Given the description of an element on the screen output the (x, y) to click on. 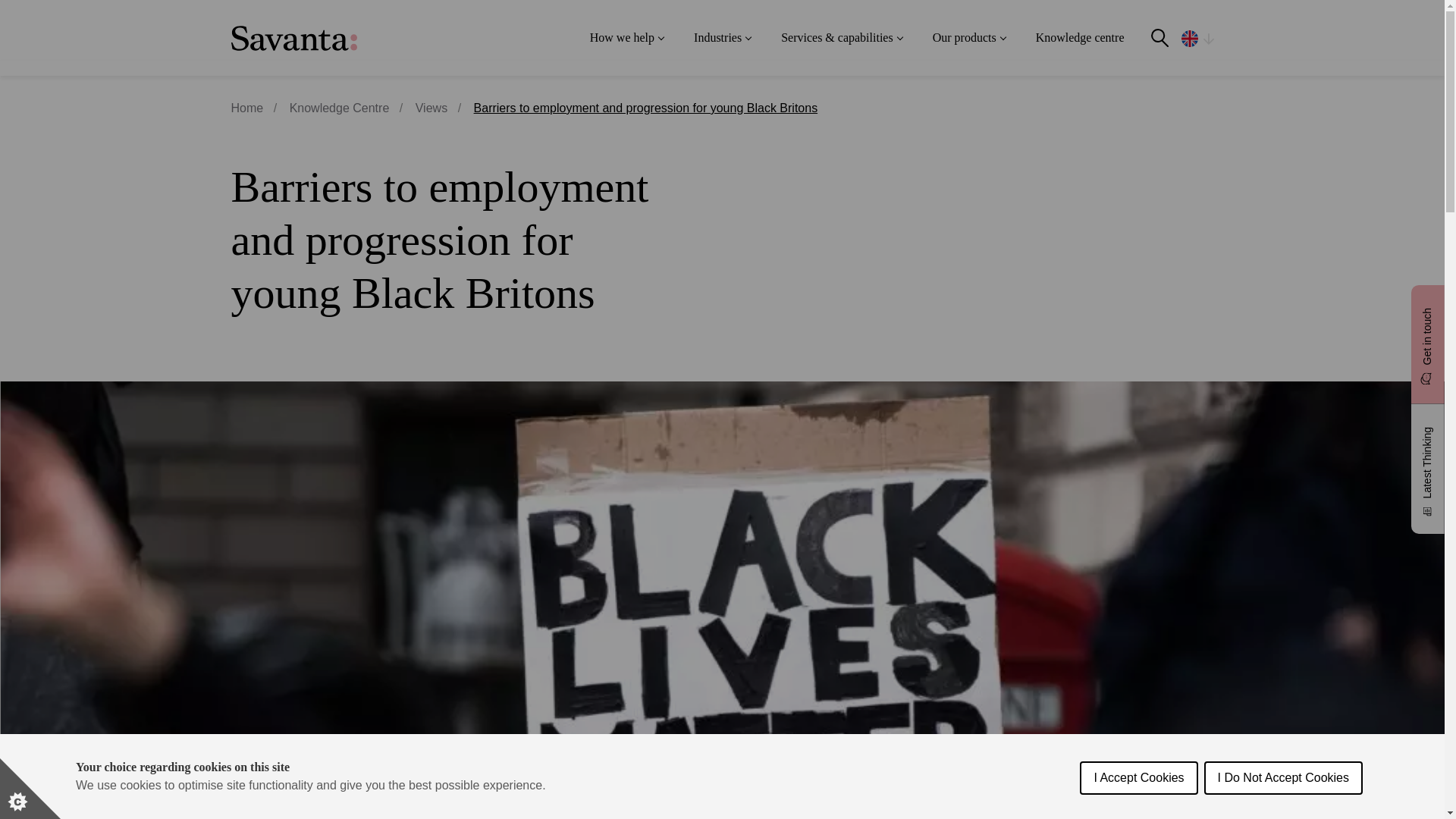
I Do Not Accept Cookies (1283, 815)
Industries (721, 38)
How we help (626, 38)
